Given the description of an element on the screen output the (x, y) to click on. 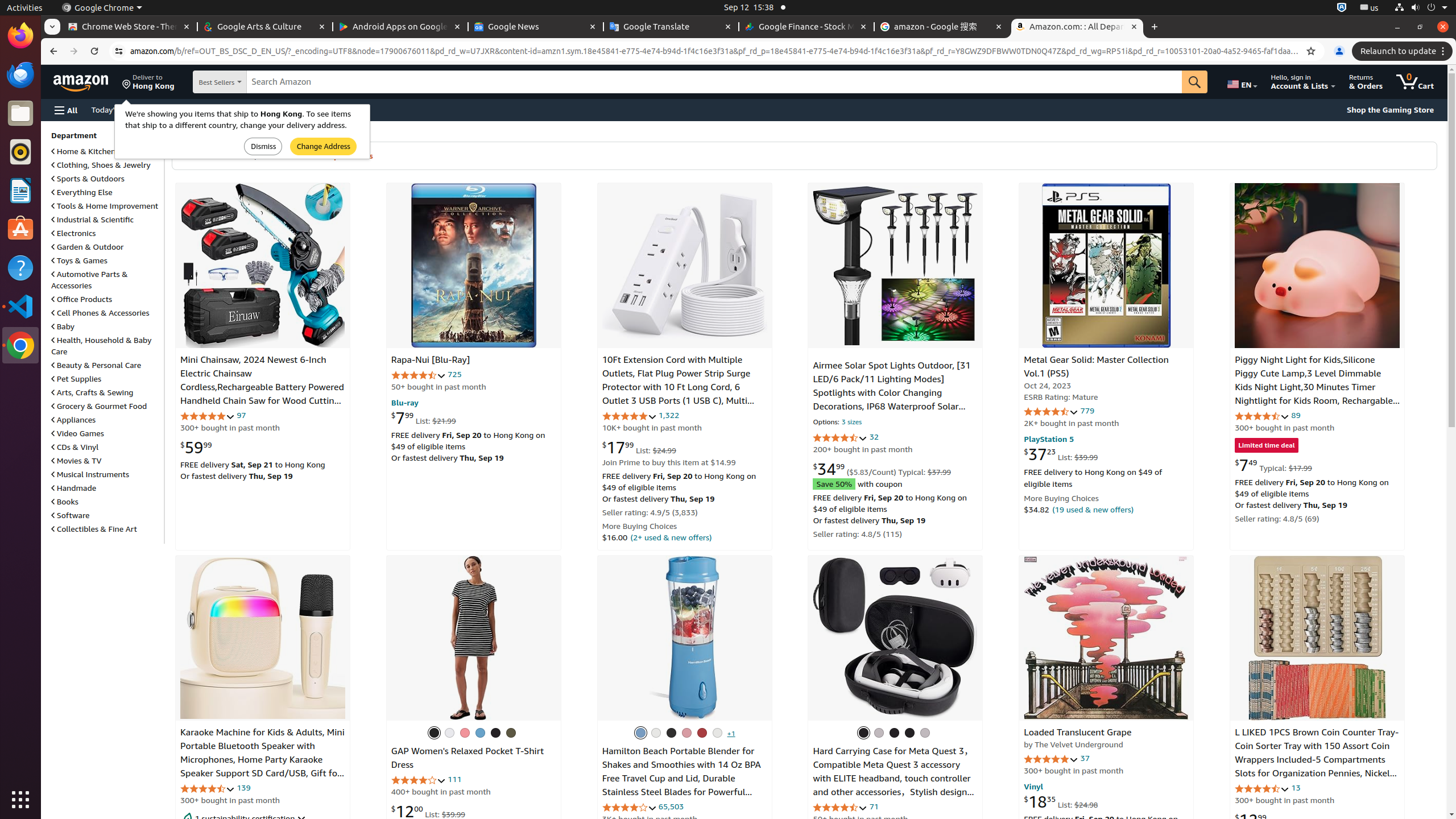
$34.99 ( $5.83 /Count) Typical: $37.99 Element type: link (881, 468)
L LIKED 1PCS Brown Coin Counter Tray-Coin Sorter Tray with 150 Assort Coin Wrappers Included-5 Compartments Slots for Organization Pennies, Nickels, Dimes, and Quarters - Use for Bank,Home and Office Element type: link (1316, 766)
65,503 Element type: link (671, 806)
Airmee Solar Spot Lights Outdoor, [31 LED/6 Pack/11 Lighting Modes] Spotlights with Color Changing Decorations, IP68 Water... Element type: link (895, 265)
Go Element type: push-button (1194, 81)
